Given the description of an element on the screen output the (x, y) to click on. 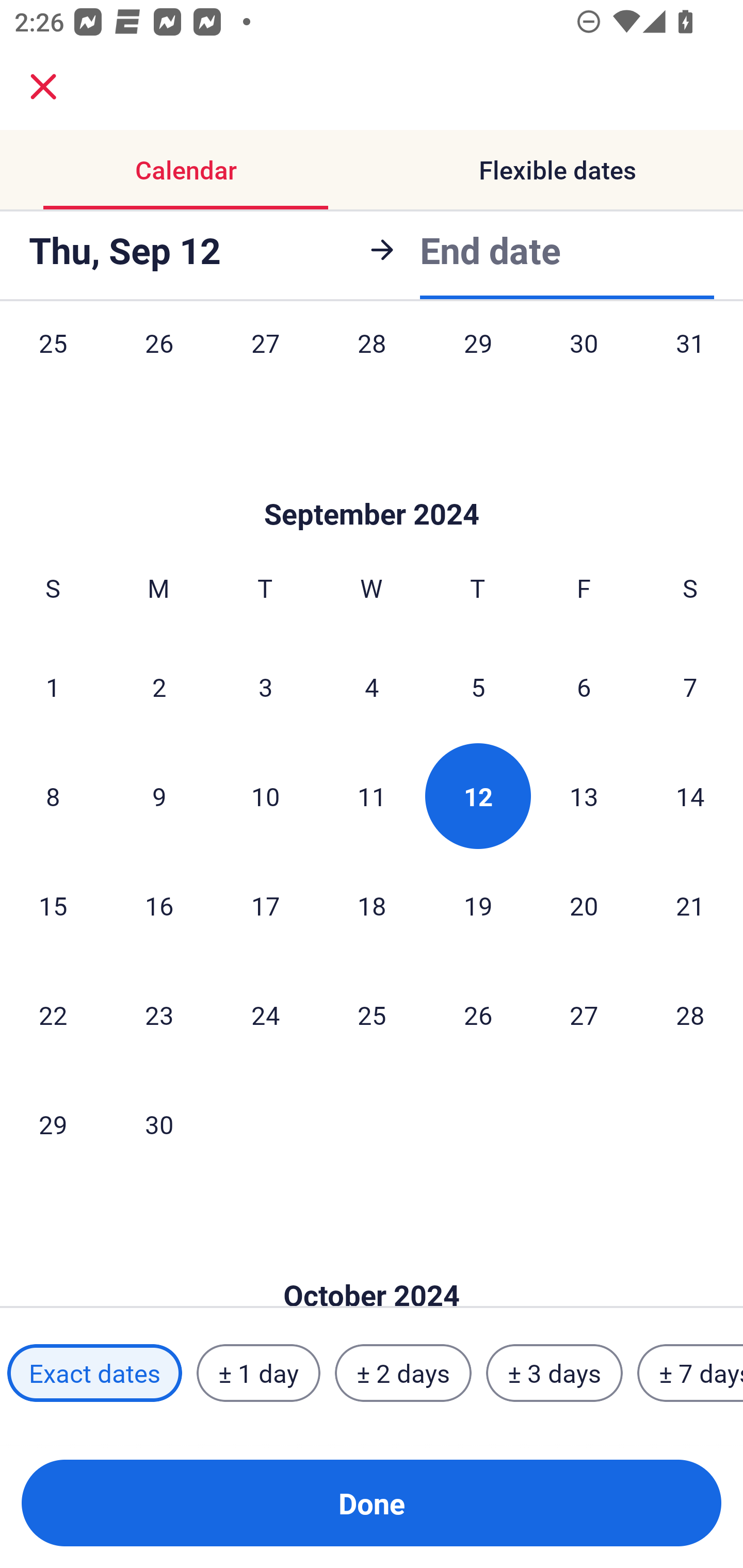
close. (43, 86)
Flexible dates (557, 170)
End date (489, 248)
25 Sunday, August 25, 2024 (53, 362)
26 Monday, August 26, 2024 (159, 362)
27 Tuesday, August 27, 2024 (265, 362)
28 Wednesday, August 28, 2024 (371, 362)
29 Thursday, August 29, 2024 (477, 362)
30 Friday, August 30, 2024 (584, 362)
31 Saturday, August 31, 2024 (690, 362)
Skip to Done (371, 483)
1 Sunday, September 1, 2024 (53, 686)
2 Monday, September 2, 2024 (159, 686)
3 Tuesday, September 3, 2024 (265, 686)
4 Wednesday, September 4, 2024 (371, 686)
5 Thursday, September 5, 2024 (477, 686)
6 Friday, September 6, 2024 (584, 686)
7 Saturday, September 7, 2024 (690, 686)
8 Sunday, September 8, 2024 (53, 795)
9 Monday, September 9, 2024 (159, 795)
10 Tuesday, September 10, 2024 (265, 795)
11 Wednesday, September 11, 2024 (371, 795)
13 Friday, September 13, 2024 (584, 795)
14 Saturday, September 14, 2024 (690, 795)
15 Sunday, September 15, 2024 (53, 905)
16 Monday, September 16, 2024 (159, 905)
17 Tuesday, September 17, 2024 (265, 905)
18 Wednesday, September 18, 2024 (371, 905)
19 Thursday, September 19, 2024 (477, 905)
20 Friday, September 20, 2024 (584, 905)
21 Saturday, September 21, 2024 (690, 905)
22 Sunday, September 22, 2024 (53, 1014)
23 Monday, September 23, 2024 (159, 1014)
24 Tuesday, September 24, 2024 (265, 1014)
25 Wednesday, September 25, 2024 (371, 1014)
26 Thursday, September 26, 2024 (477, 1014)
27 Friday, September 27, 2024 (584, 1014)
28 Saturday, September 28, 2024 (690, 1014)
29 Sunday, September 29, 2024 (53, 1123)
30 Monday, September 30, 2024 (159, 1123)
Skip to Done (371, 1263)
Exact dates (94, 1372)
± 1 day (258, 1372)
± 2 days (403, 1372)
± 3 days (553, 1372)
± 7 days (690, 1372)
Done (371, 1502)
